Given the description of an element on the screen output the (x, y) to click on. 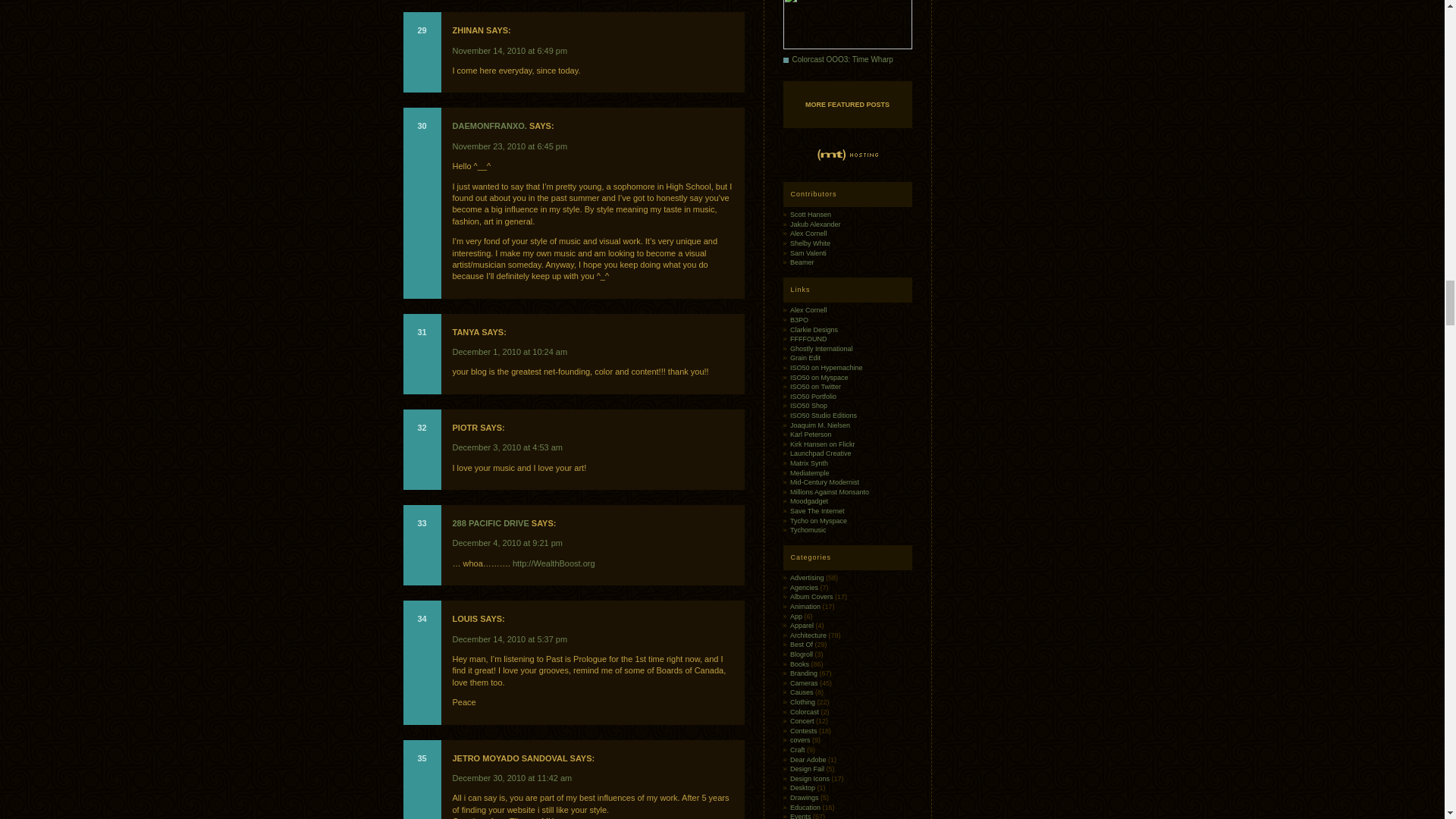
ISO50 on Twitter (815, 386)
ISO50 Portfolio (812, 396)
The Blog of Joaquim M. Nielsen (820, 425)
Karl helps out with the technical aspects of the blog. (810, 434)
Music from ISO50 on Hypemachine (826, 367)
